Given the description of an element on the screen output the (x, y) to click on. 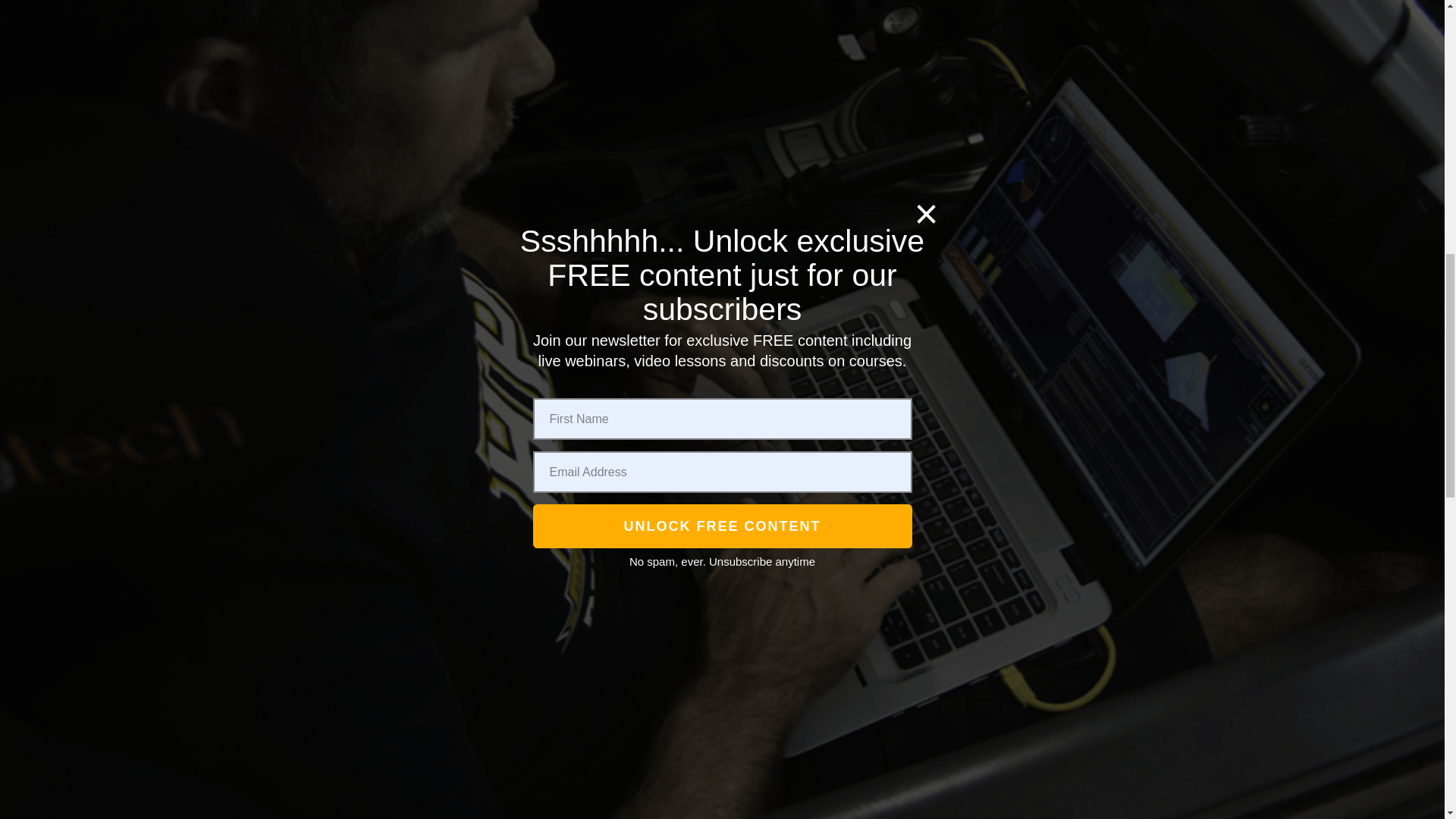
Click here to view omRacing (355, 502)
Click here to view David Ferguson (355, 227)
Click here to view omRacing (354, 435)
Click here to view David Ferguson (355, 775)
Click here to view David Ferguson (355, 294)
Click here to view David Ferguson (355, 814)
